Given the description of an element on the screen output the (x, y) to click on. 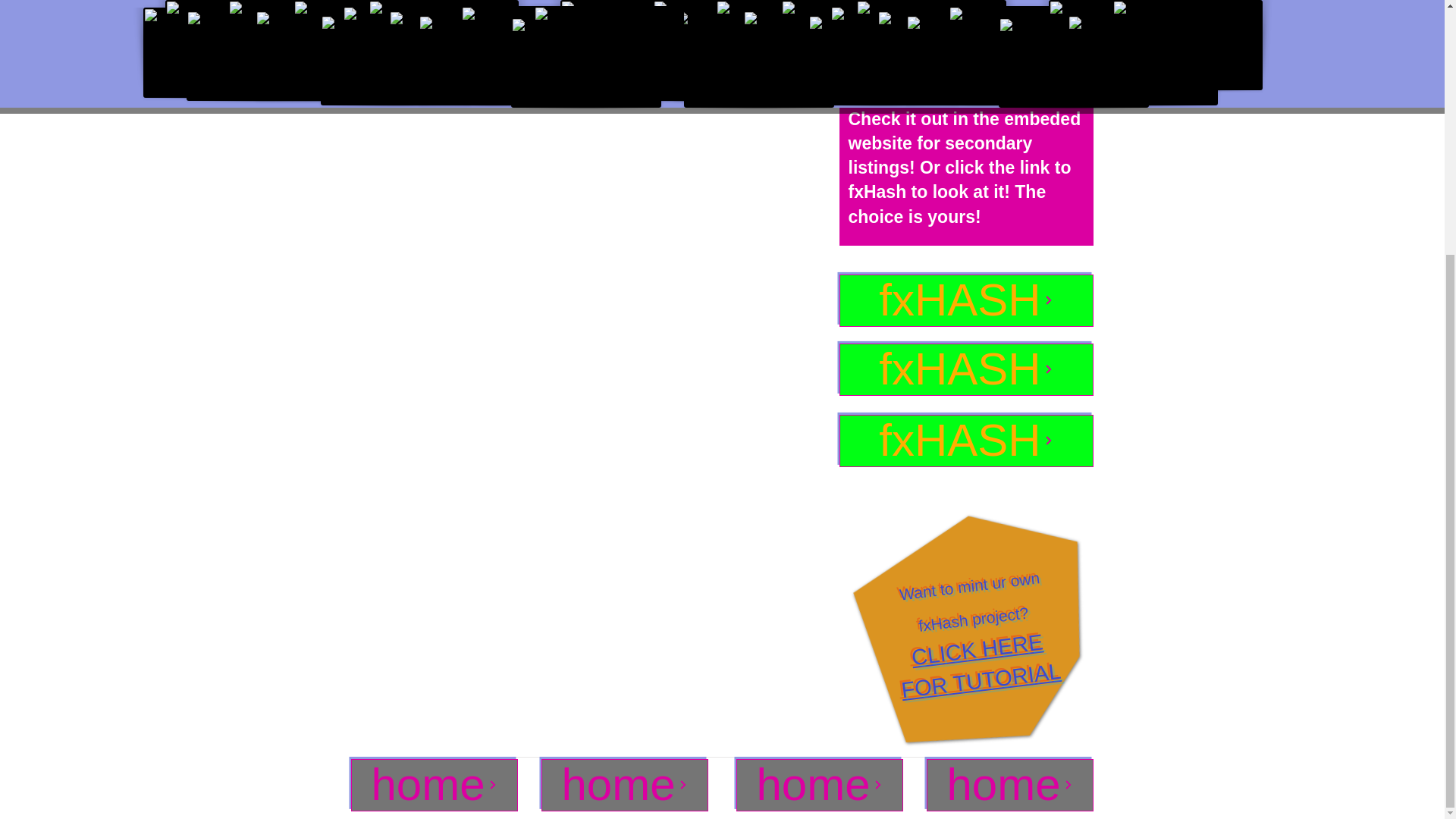
fxHASH (965, 369)
home (979, 656)
fxHASH (818, 785)
home (965, 300)
home (624, 785)
home (1009, 785)
fxHASH (433, 785)
